Given the description of an element on the screen output the (x, y) to click on. 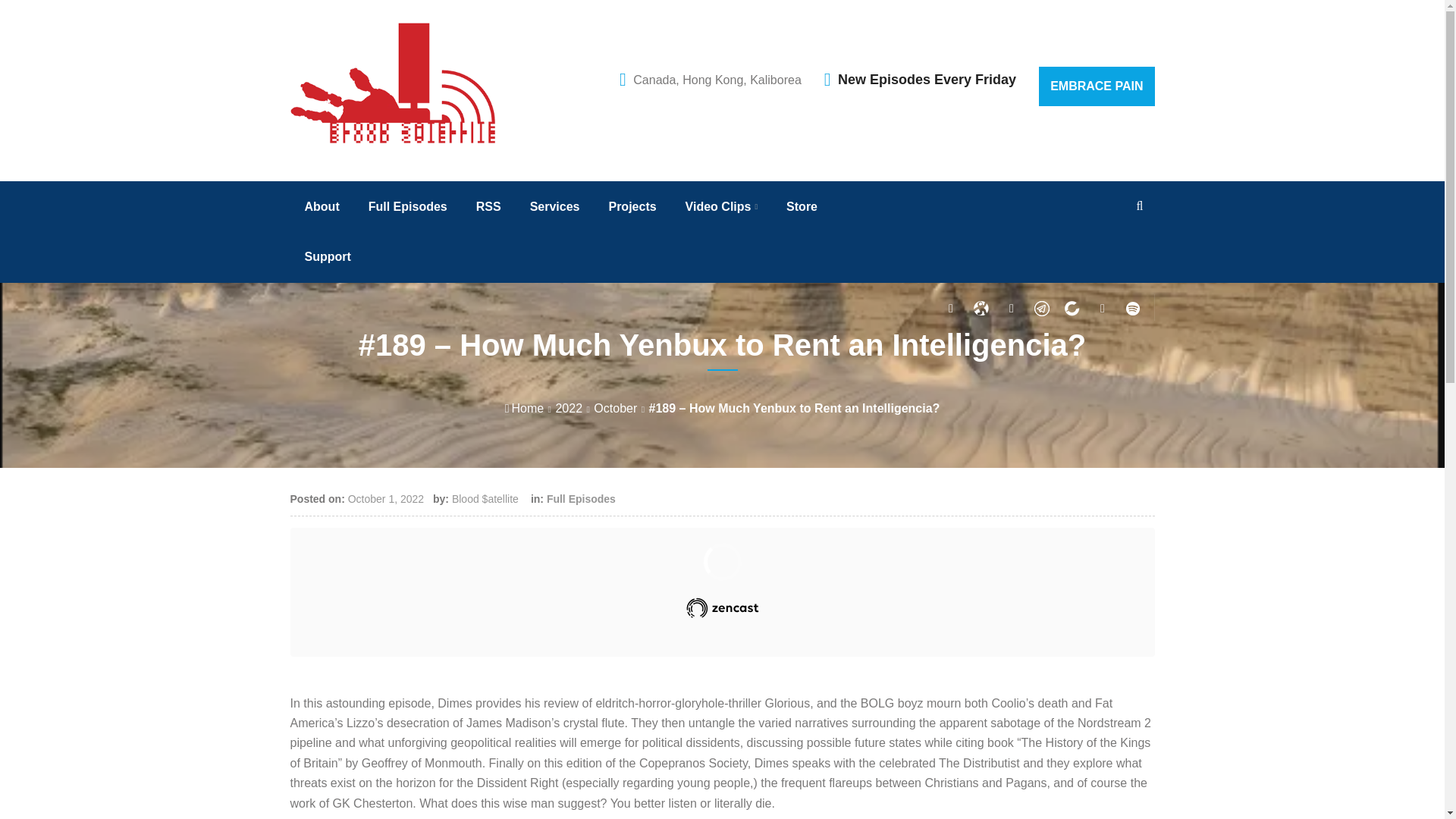
Services (555, 206)
Store (802, 206)
Twitter (951, 309)
Facebook (981, 309)
Support (328, 256)
Video Clips (721, 206)
Projects (631, 206)
Full Episodes (408, 206)
Vimeo (1133, 309)
RSS (489, 206)
EMBRACE PAIN (1096, 86)
Instagram (1011, 309)
Linkedin (1071, 309)
Youtube (1102, 309)
About (322, 206)
